Given the description of an element on the screen output the (x, y) to click on. 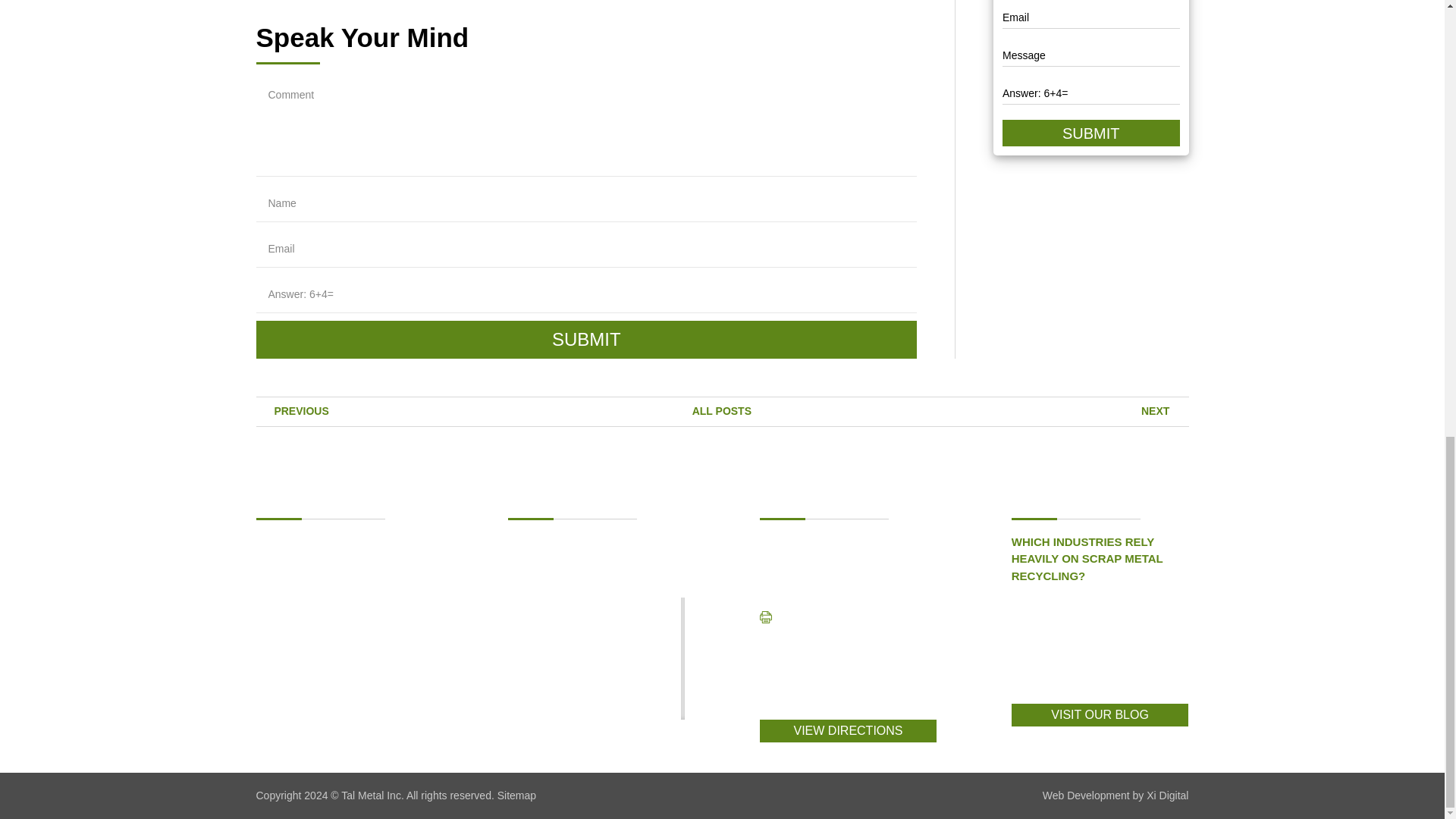
SUBMIT (1091, 132)
SUBMIT (586, 339)
PREVIOUS (292, 410)
